Given the description of an element on the screen output the (x, y) to click on. 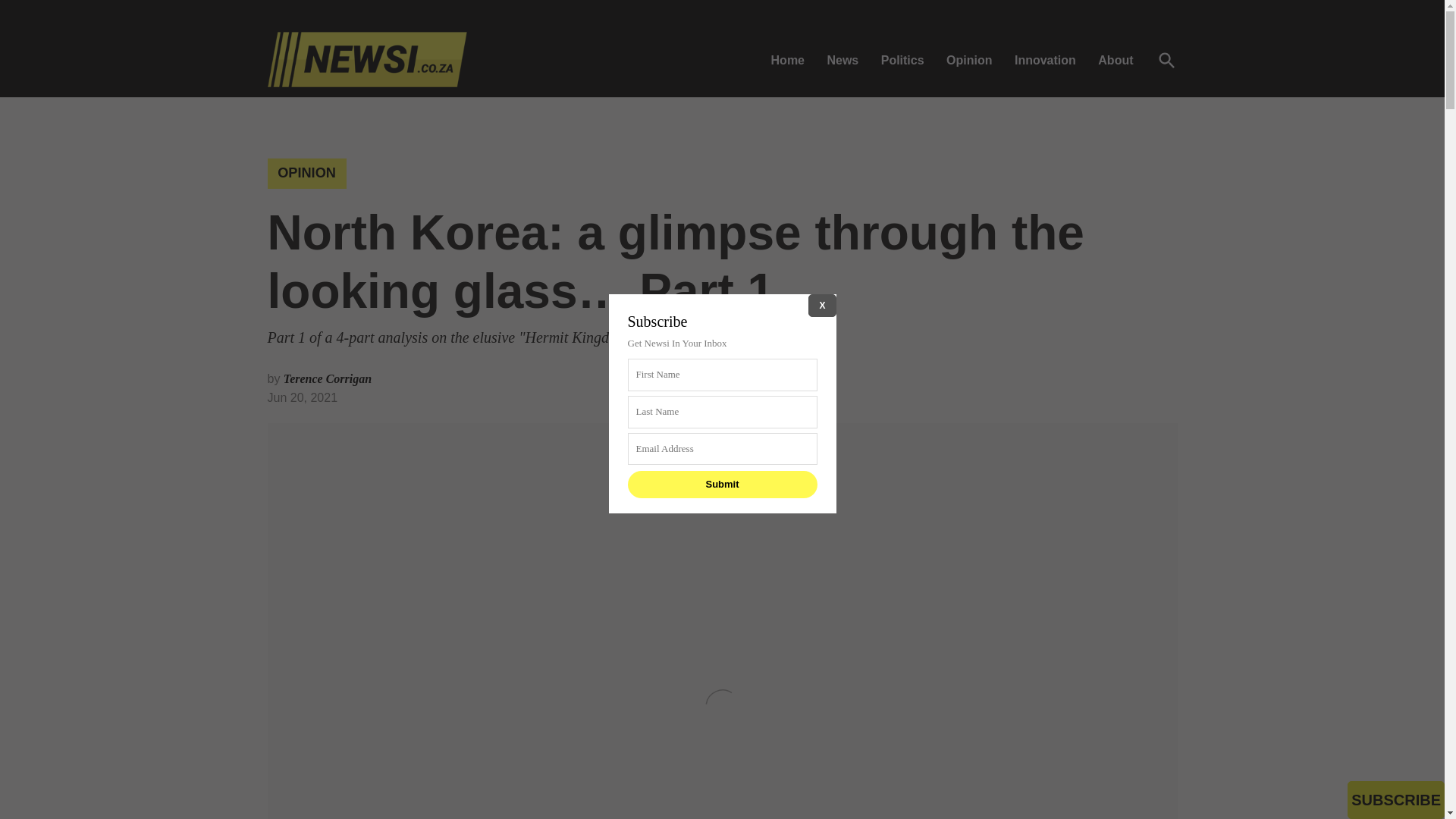
OPINION (306, 173)
newsi.co.za (532, 70)
News (842, 59)
Innovation (1045, 59)
About (1115, 59)
Home (791, 59)
Submit (721, 483)
Politics (902, 59)
Opinion (968, 59)
Terence Corrigan (327, 378)
